Given the description of an element on the screen output the (x, y) to click on. 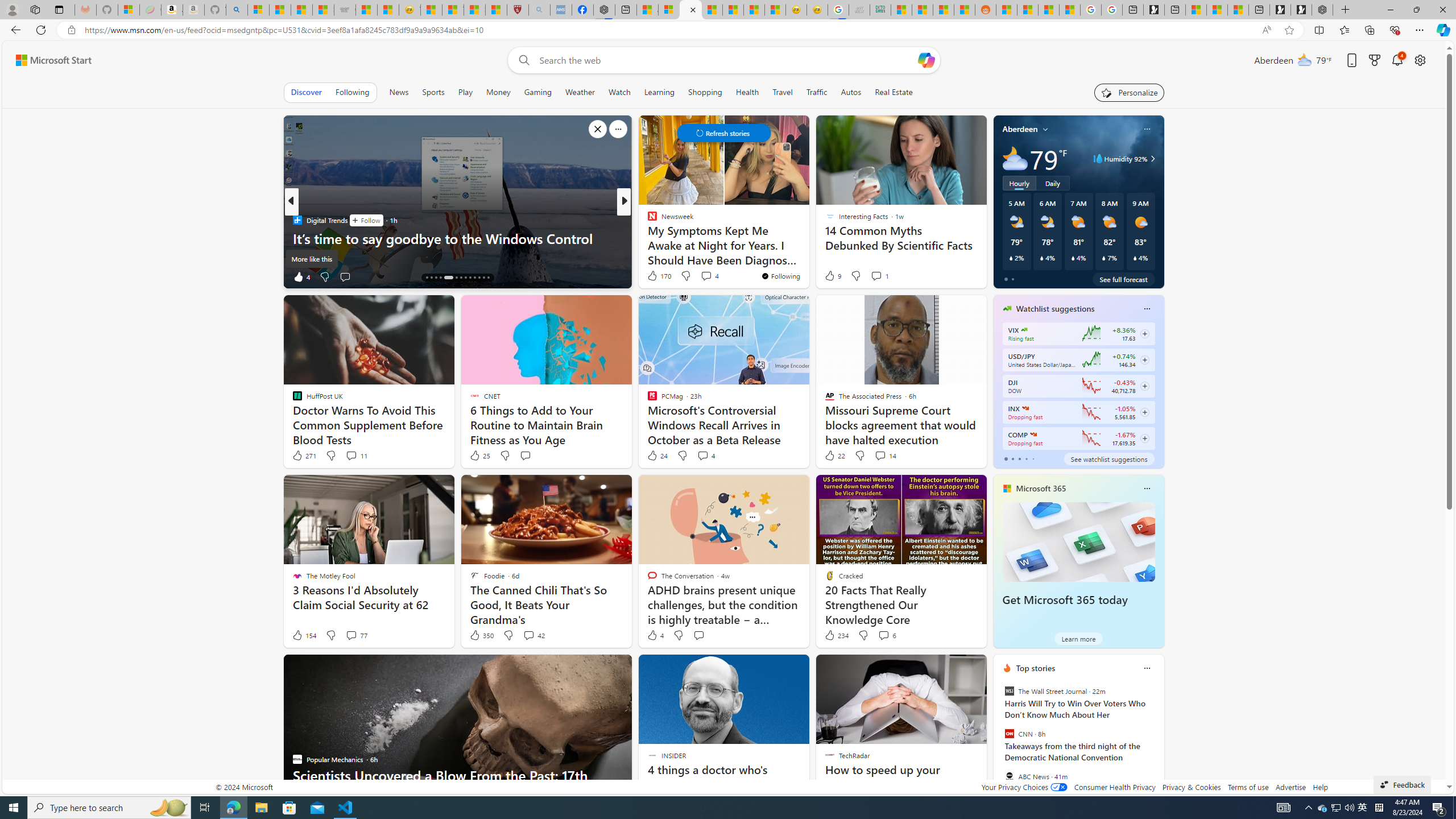
You're following FOX News (949, 279)
View comments 6 Comment (883, 635)
See full forecast (1123, 278)
350 Like (480, 634)
Humidity 92% (1150, 158)
tab-3 (1025, 458)
720 Like (654, 276)
